Given the description of an element on the screen output the (x, y) to click on. 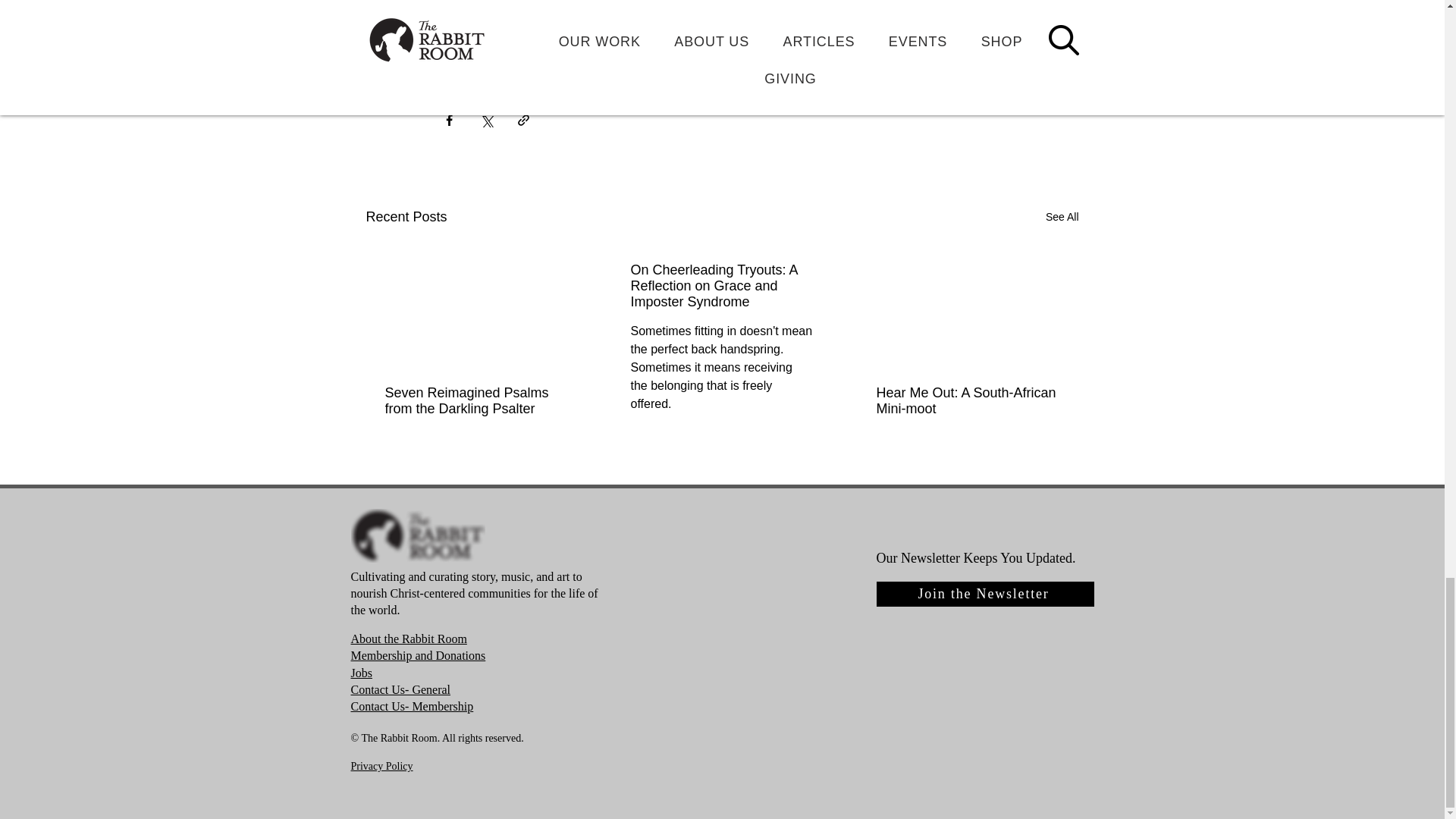
See All (1061, 217)
Hear Me Out: A South-African Mini-moot (967, 400)
Seven Reimagined Psalms from the Darkling Psalter (476, 400)
